Given the description of an element on the screen output the (x, y) to click on. 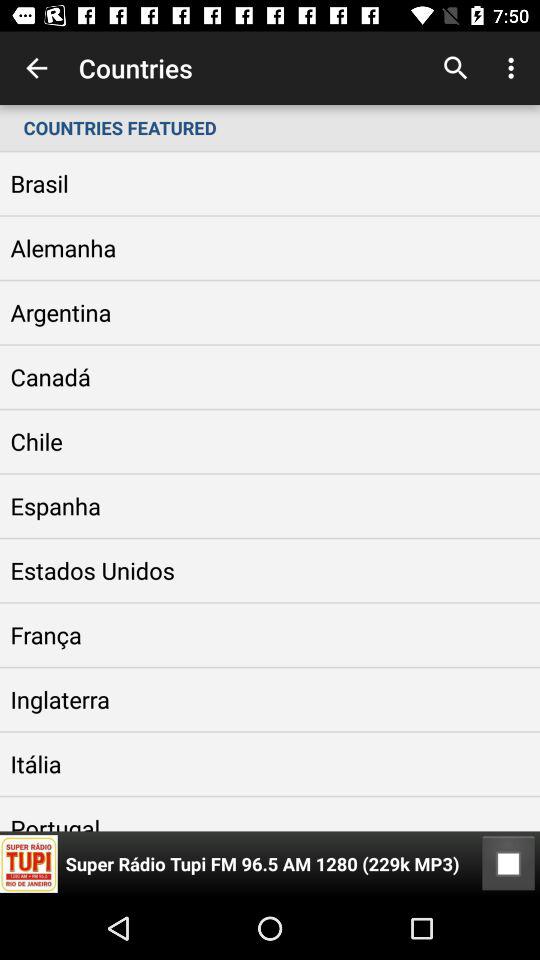
choose the icon above countries featured (36, 68)
